Given the description of an element on the screen output the (x, y) to click on. 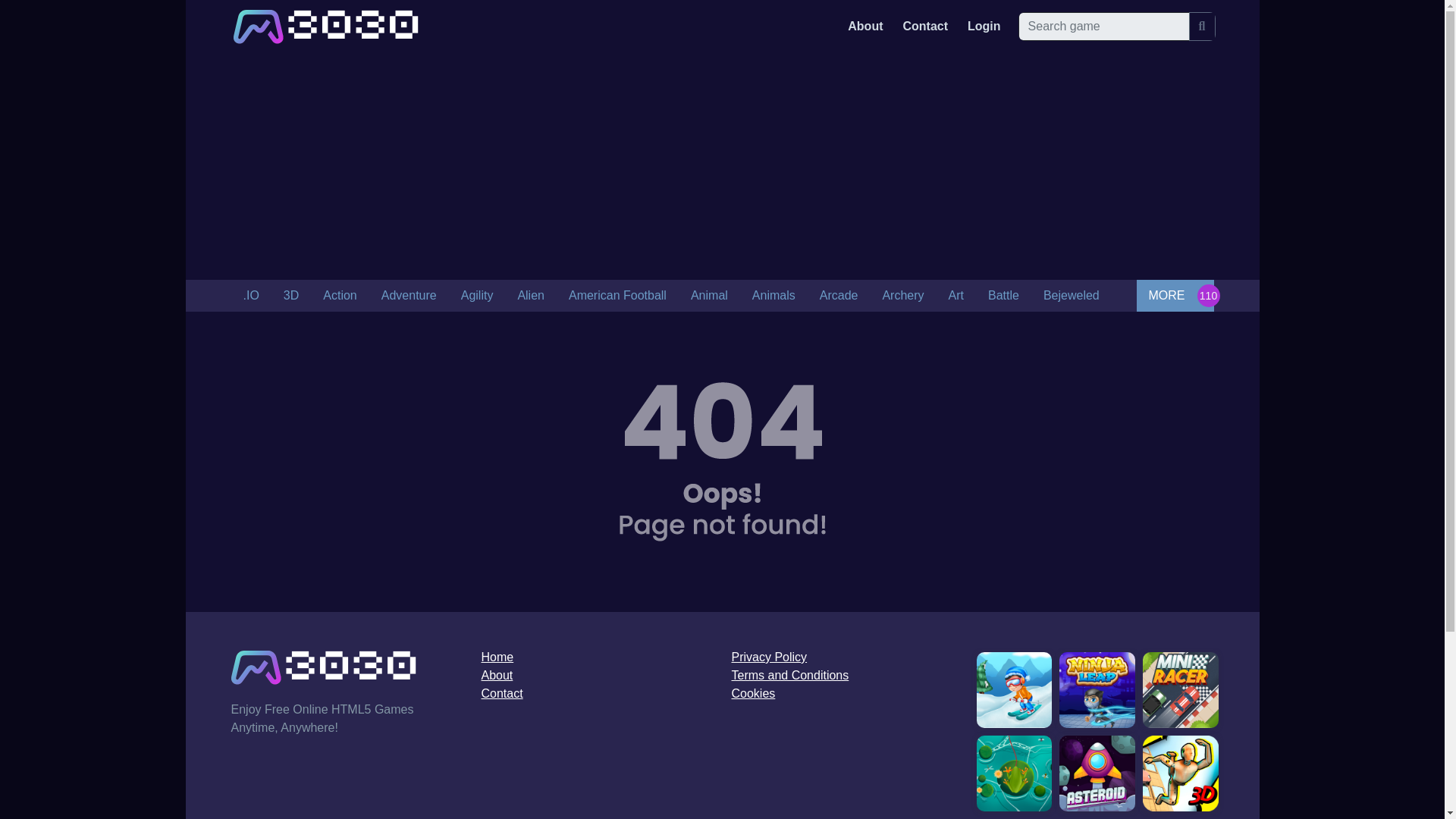
MORE (1173, 296)
Contact (924, 25)
Battle (1002, 295)
About (864, 25)
American Football (617, 295)
Animal (708, 295)
Action (339, 295)
Agility (476, 295)
Animals (773, 295)
Bejeweled (1071, 295)
Login (983, 25)
Arcade (839, 295)
Adventure (408, 295)
Art (955, 295)
